Given the description of an element on the screen output the (x, y) to click on. 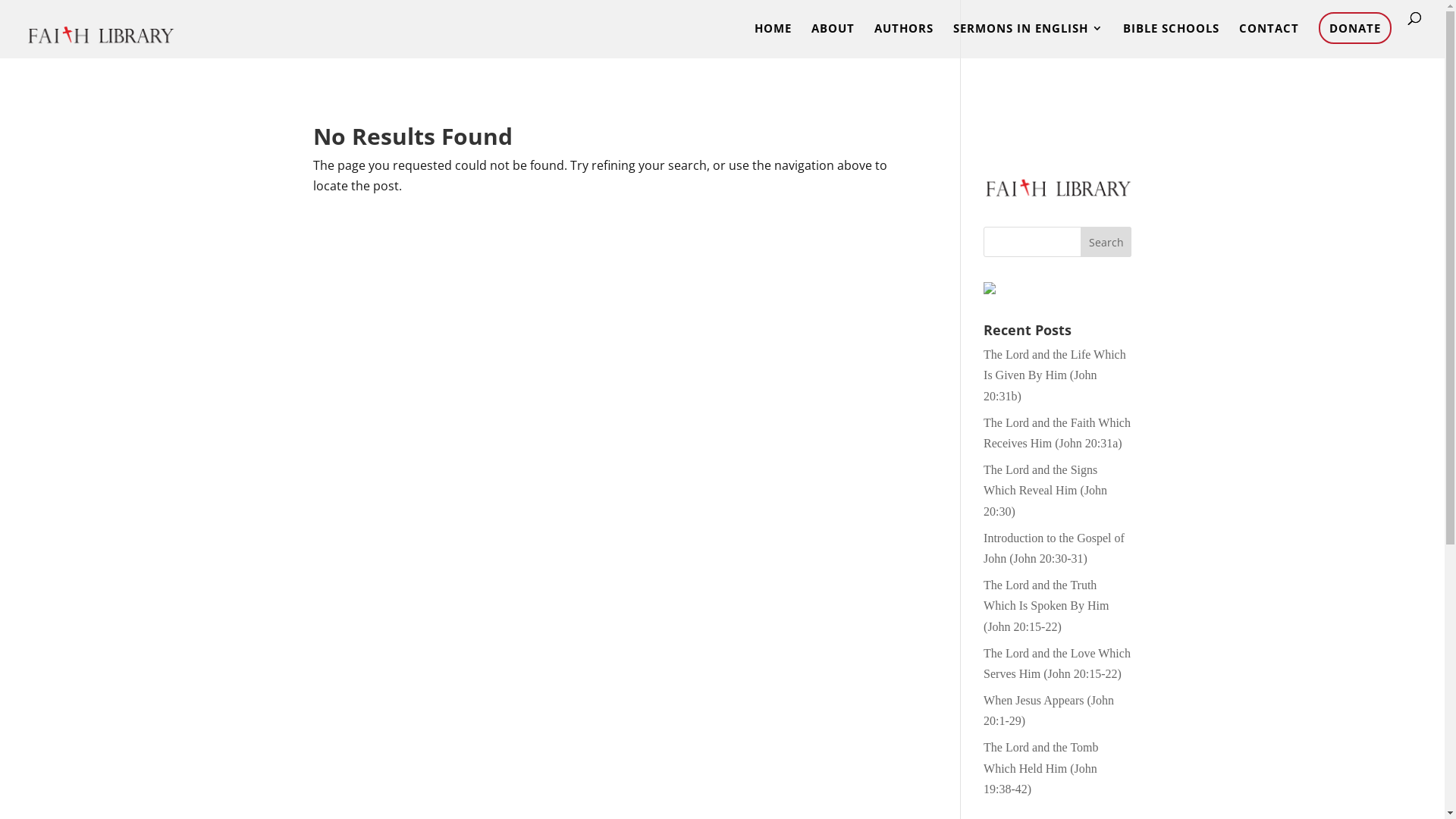
The Lord and the Love Which Serves Him (John 20:15-22) Element type: text (1056, 663)
Search Element type: text (1106, 241)
The Lord and the Signs Which Reveal Him (John 20:30) Element type: text (1045, 490)
ABOUT Element type: text (832, 40)
DONATE Element type: text (1354, 27)
The Lord and the Tomb Which Held Him (John 19:38-42) Element type: text (1040, 767)
SERMONS IN ENGLISH Element type: text (1028, 40)
When Jesus Appears (John 20:1-29) Element type: text (1048, 710)
AUTHORS Element type: text (903, 40)
The Lord and the Life Which Is Given By Him (John 20:31b) Element type: text (1054, 374)
HOME Element type: text (772, 40)
BIBLE SCHOOLS Element type: text (1171, 40)
The Lord and the Faith Which Receives Him (John 20:31a) Element type: text (1056, 432)
Introduction to the Gospel of John (John 20:30-31) Element type: text (1053, 547)
CONTACT Element type: text (1269, 40)
